Given the description of an element on the screen output the (x, y) to click on. 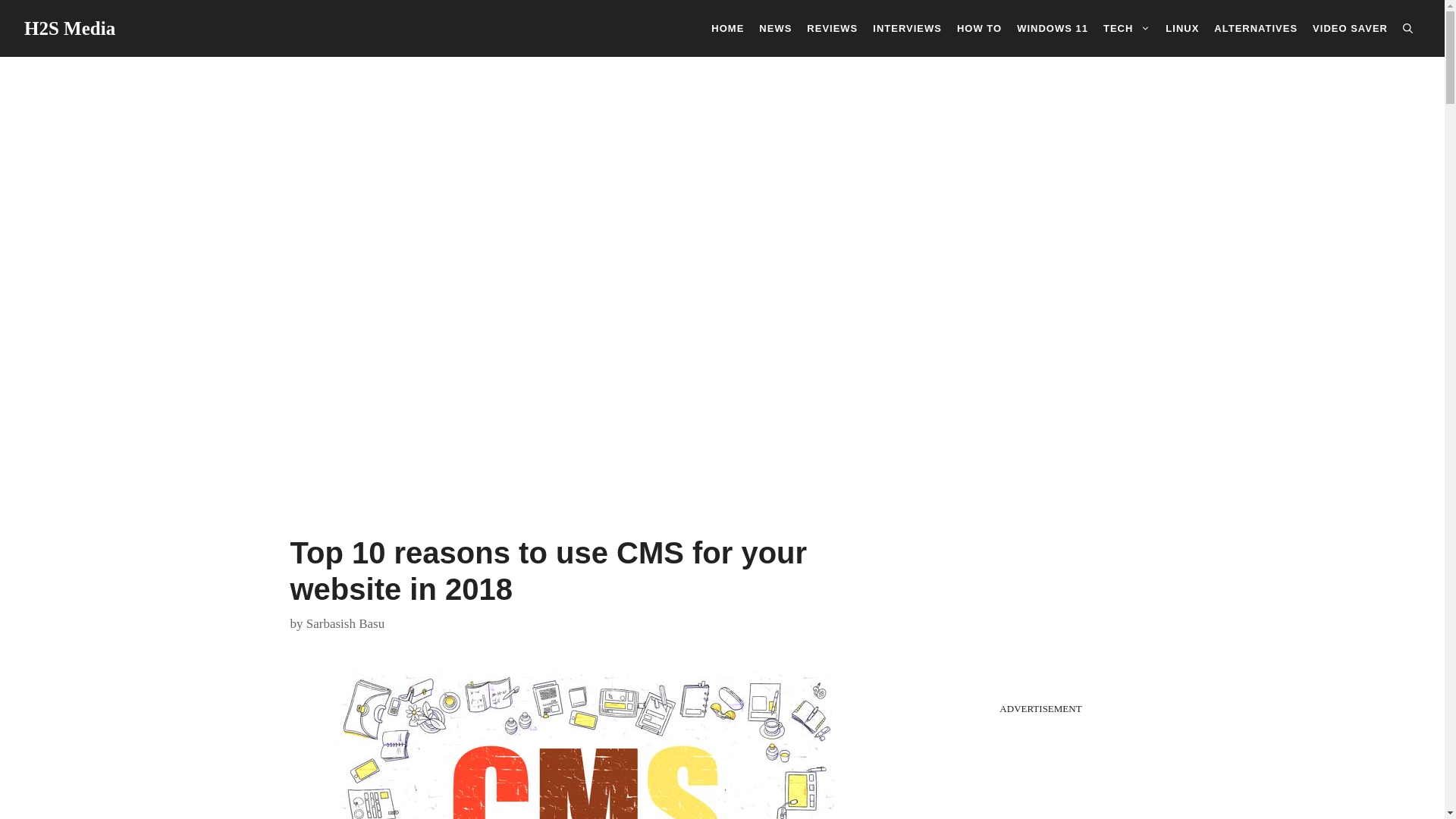
HOW TO (979, 27)
Sarbasish Basu (344, 622)
NEWS (775, 27)
VIDEO SAVER (1349, 27)
REVIEWS (831, 27)
HOME (727, 27)
WINDOWS 11 (1052, 27)
View all posts by Sarbasish Basu (344, 622)
LINUX (1182, 27)
ALTERNATIVES (1255, 27)
TECH (1126, 27)
INTERVIEWS (906, 27)
H2S Media (69, 28)
